Given the description of an element on the screen output the (x, y) to click on. 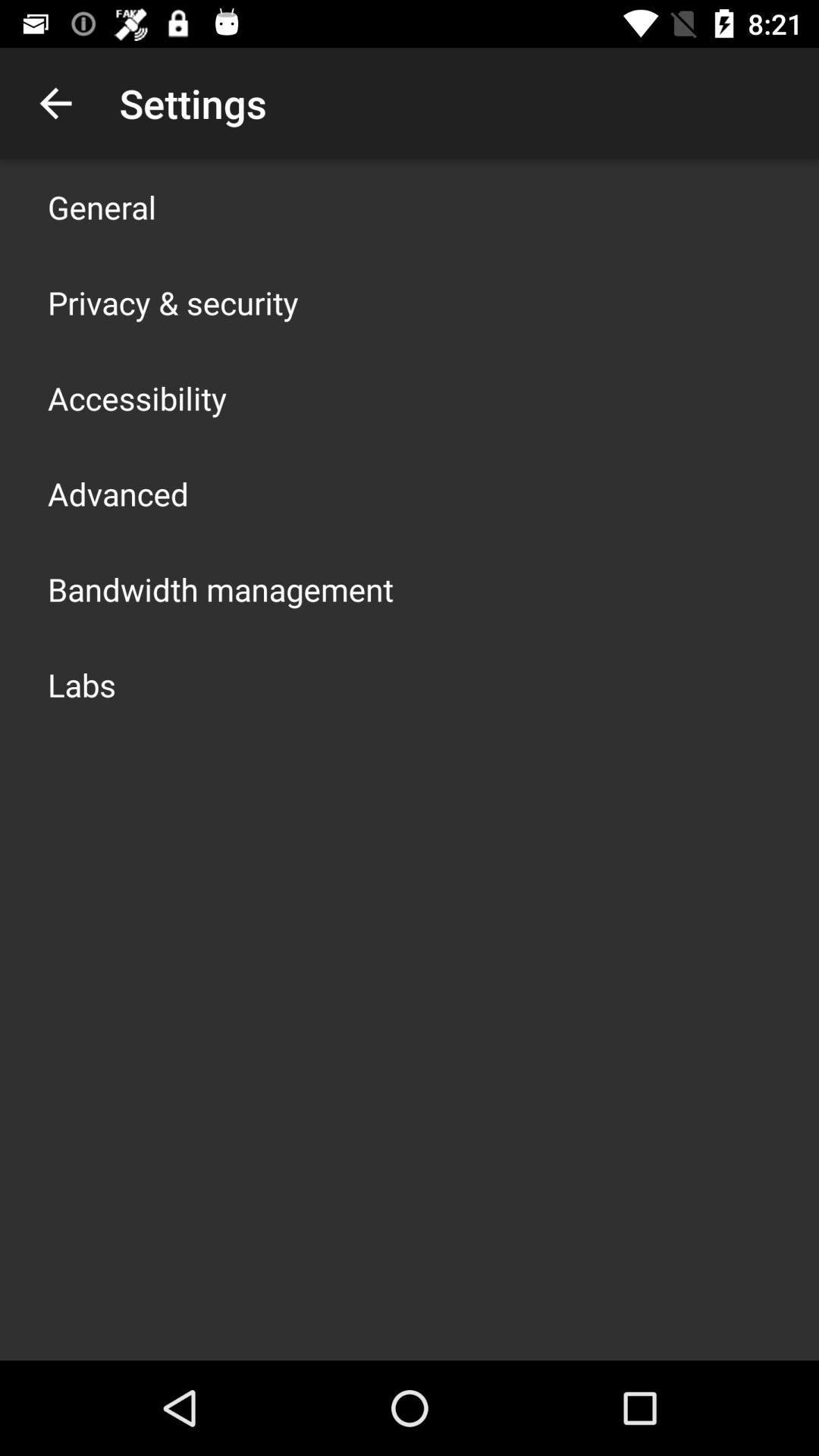
swipe until advanced icon (117, 493)
